Given the description of an element on the screen output the (x, y) to click on. 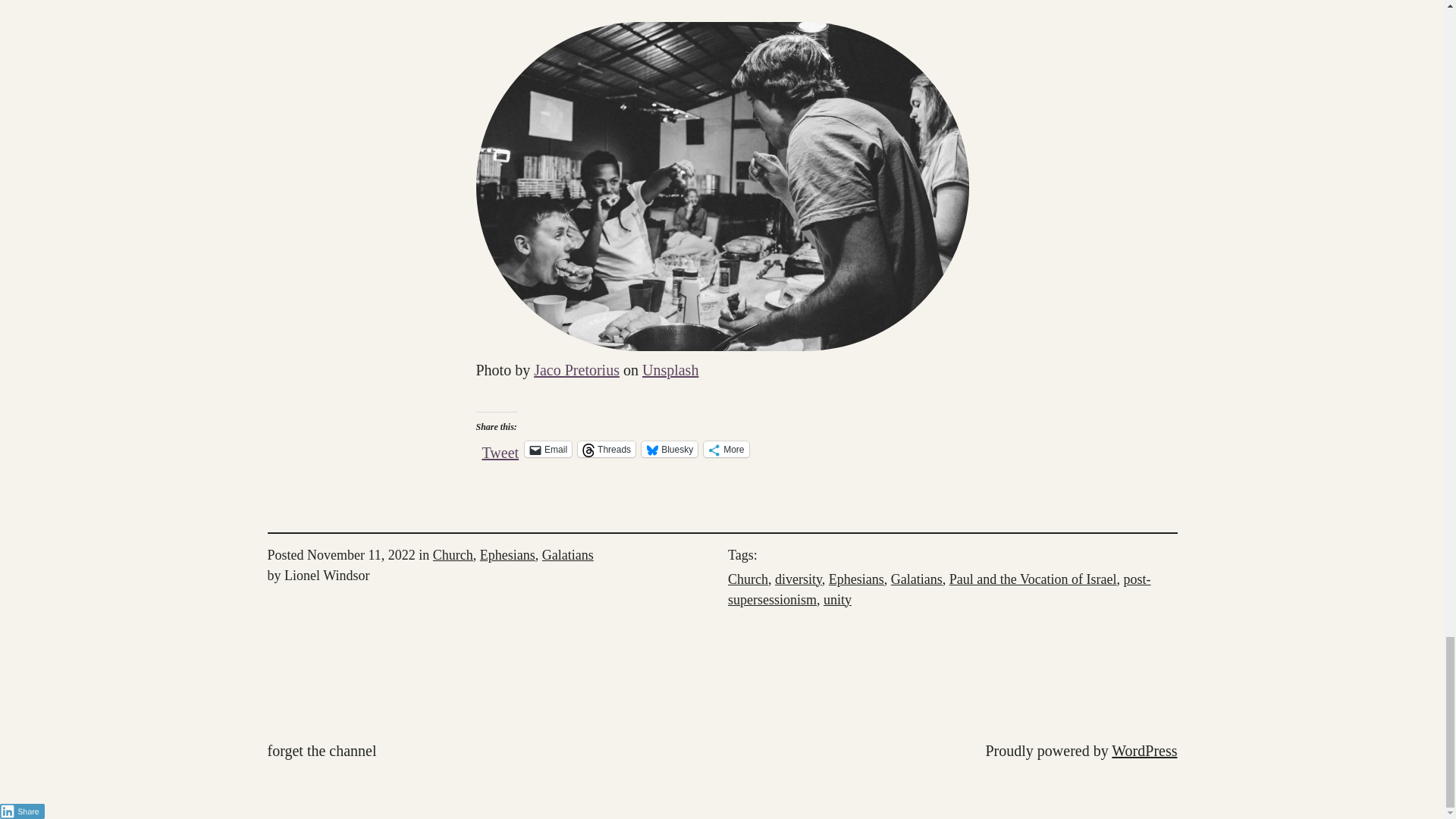
Click to email a link to a friend (548, 449)
Galatians (567, 554)
Galatians (916, 579)
post-supersessionism (939, 589)
Ephesians (855, 579)
Church (452, 554)
Church (748, 579)
Click to share on Threads (606, 449)
forget the channel (320, 750)
Threads (606, 449)
Click to share on Bluesky (669, 449)
unity (837, 598)
Jaco Pretorius (577, 369)
Paul and the Vocation of Israel (1032, 579)
Bluesky (669, 449)
